Given the description of an element on the screen output the (x, y) to click on. 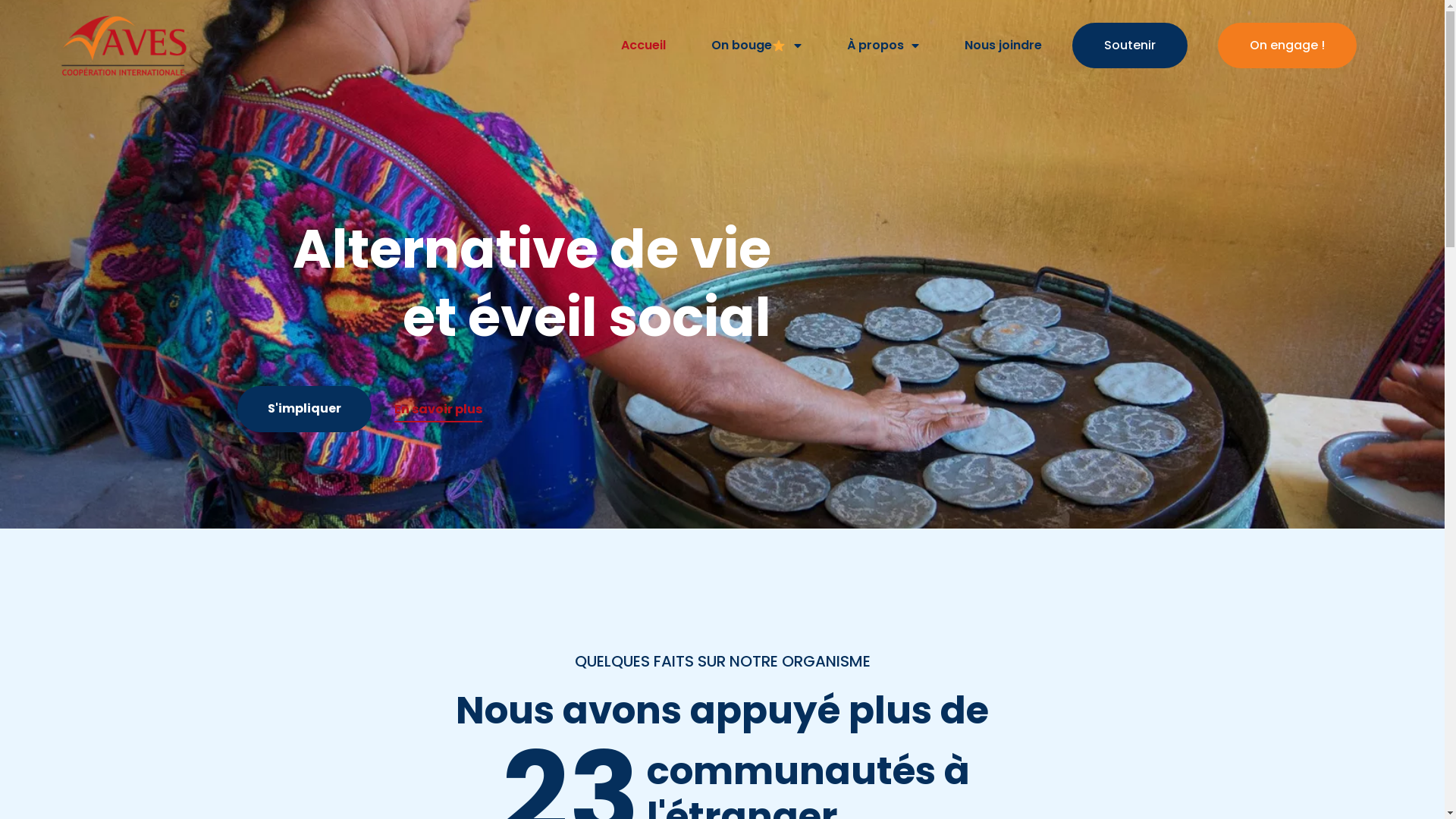
On engage ! Element type: text (1286, 45)
En savoir plus Element type: text (438, 403)
Nous joindre Element type: text (1002, 45)
Accueil Element type: text (643, 45)
On bouge Element type: text (755, 45)
Soutenir Element type: text (1129, 45)
S'impliquer Element type: text (303, 408)
